Given the description of an element on the screen output the (x, y) to click on. 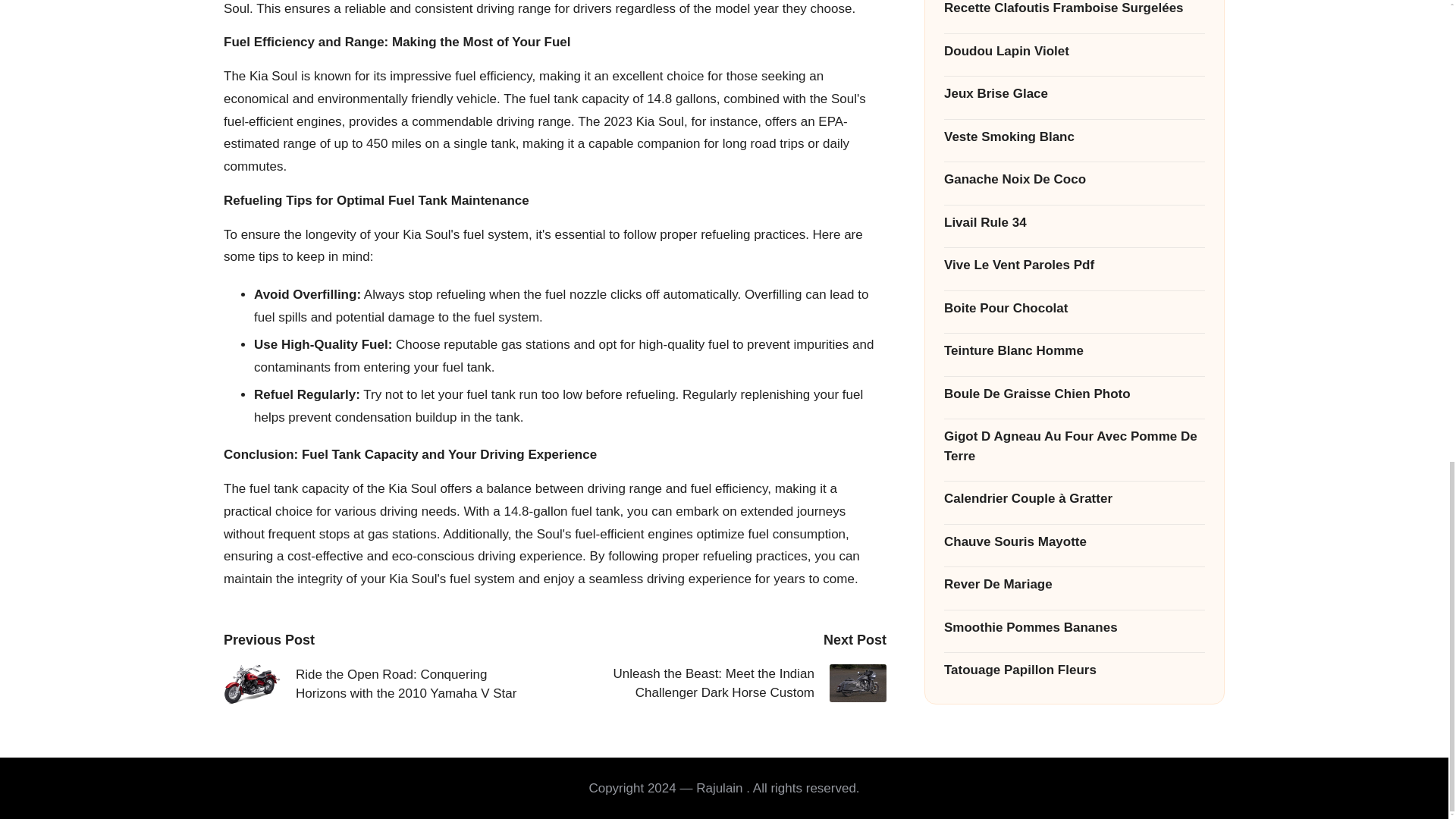
Vive Le Vent Paroles Pdf (1074, 200)
Jeux Brise Glace (1074, 29)
Boite Pour Chocolat (1074, 243)
Livail Rule 34 (1074, 158)
Teinture Blanc Homme (1074, 286)
Ganache Noix De Coco (1074, 115)
Gigot D Agneau Au Four Avec Pomme De Terre (1074, 381)
Veste Smoking Blanc (1074, 71)
Boule De Graisse Chien Photo (1074, 329)
